Given the description of an element on the screen output the (x, y) to click on. 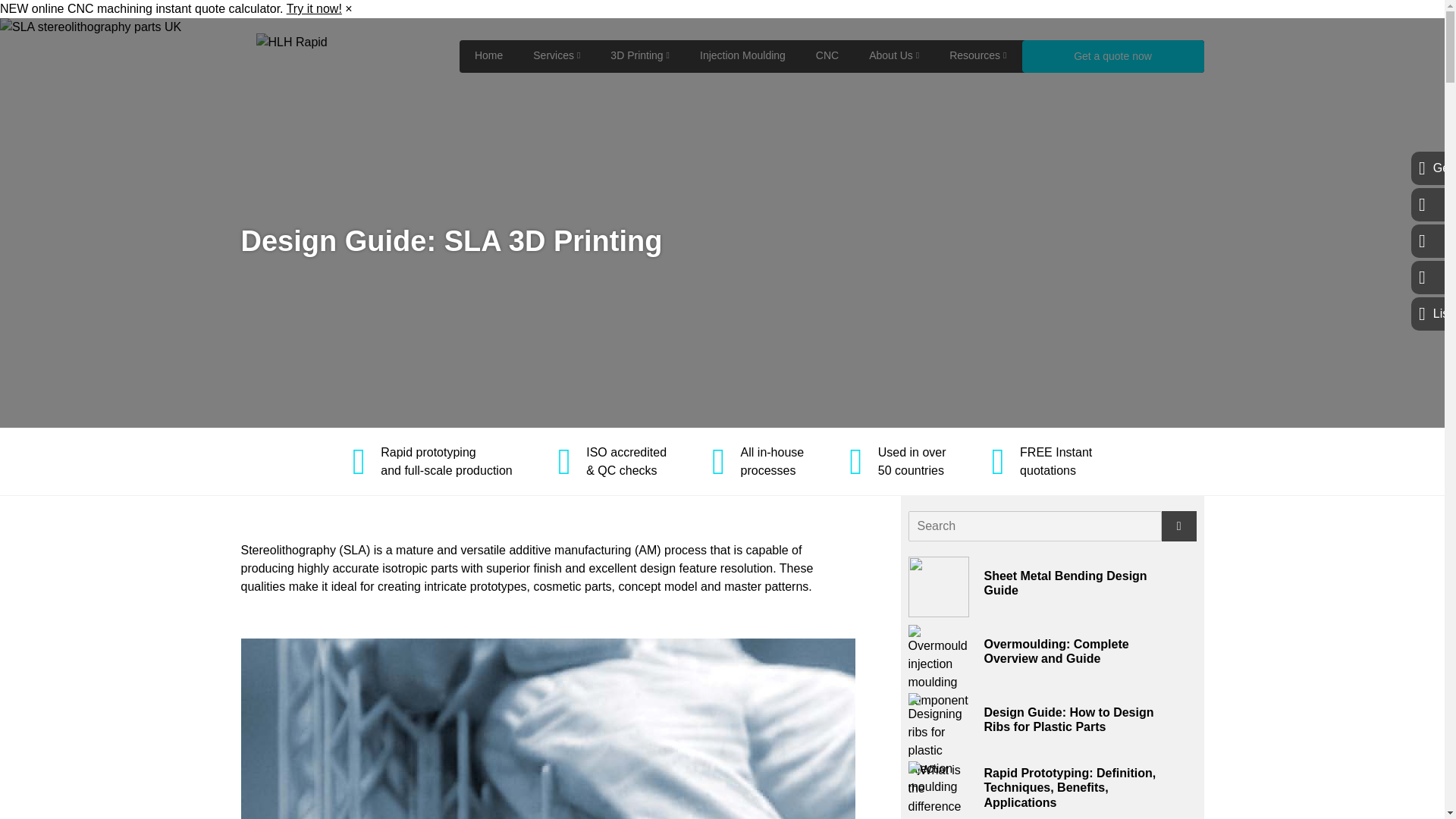
3D Printing (639, 54)
Try it now! (314, 8)
Resources (978, 54)
About Us (893, 54)
Home (489, 54)
Injection Moulding (742, 54)
CNC (826, 54)
Services (556, 54)
bending sheet metal design guide (938, 586)
rapid prototyping vs 3D printing (941, 790)
